Given the description of an element on the screen output the (x, y) to click on. 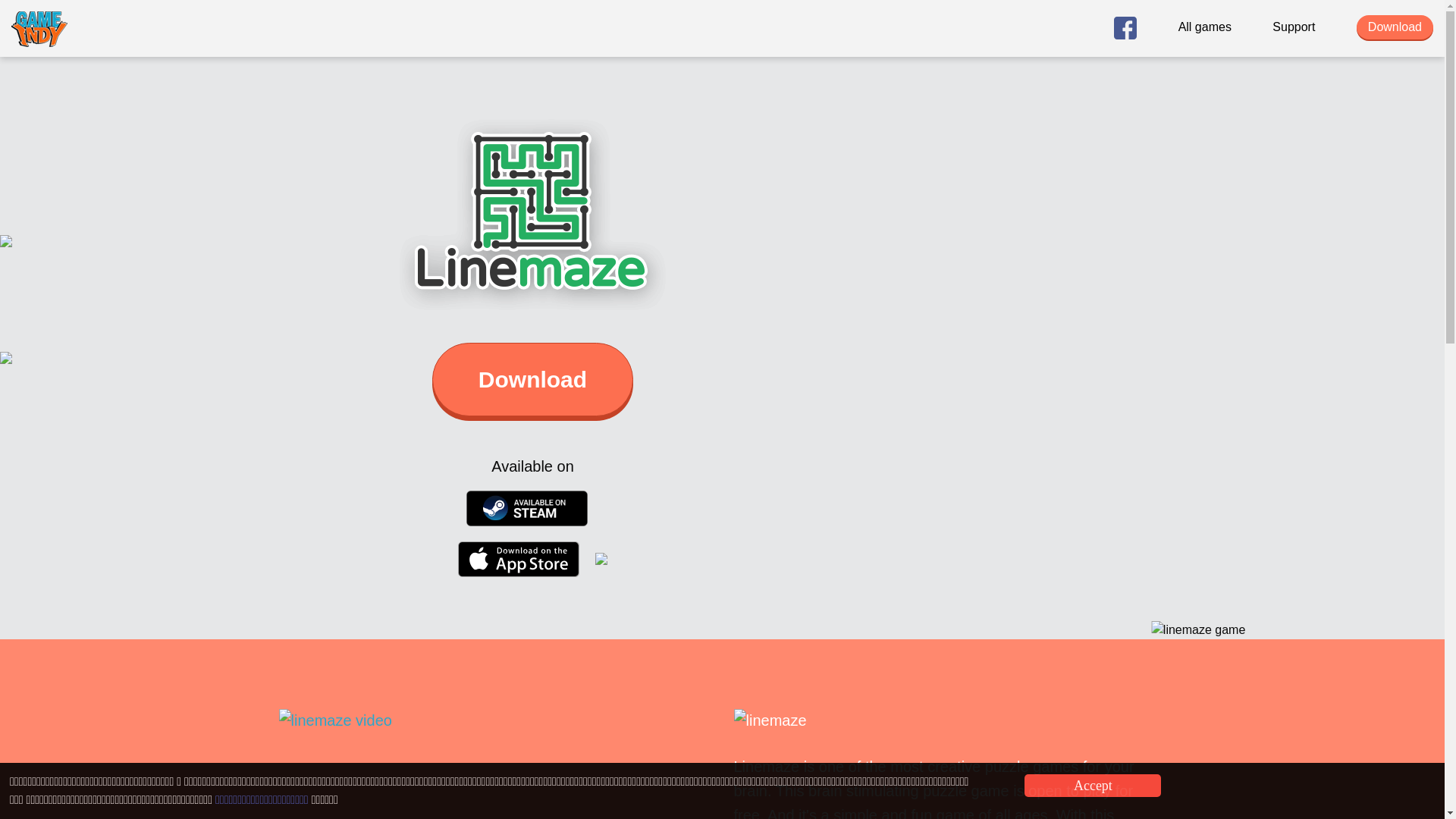
Download (1394, 27)
Download (532, 379)
Support (1293, 24)
All games (1204, 24)
